Given the description of an element on the screen output the (x, y) to click on. 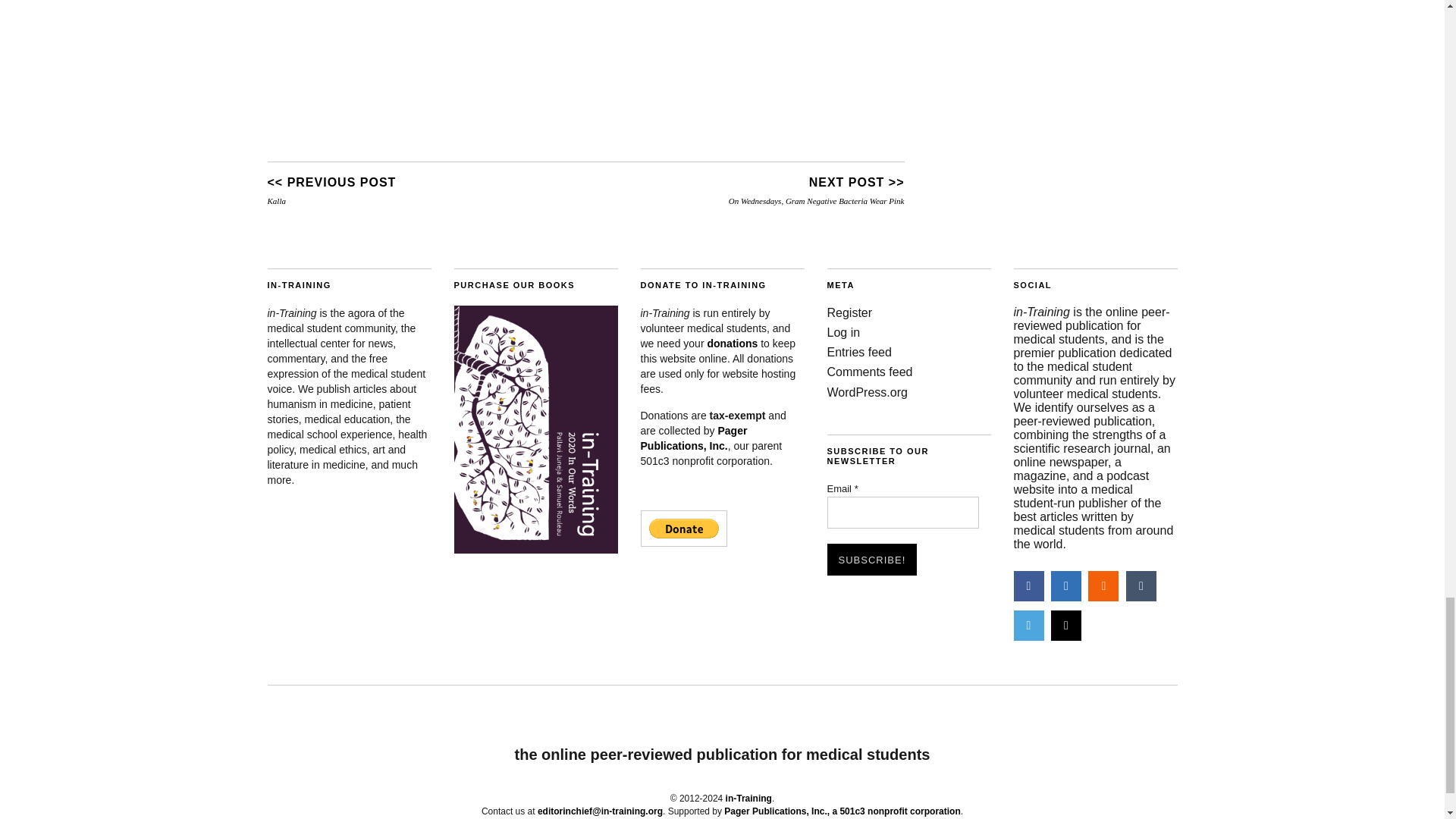
RSS (1102, 585)
Facebook (1028, 585)
Subscribe! (872, 559)
Linkedin (1066, 585)
Email (902, 512)
tumblr (1140, 585)
